Given the description of an element on the screen output the (x, y) to click on. 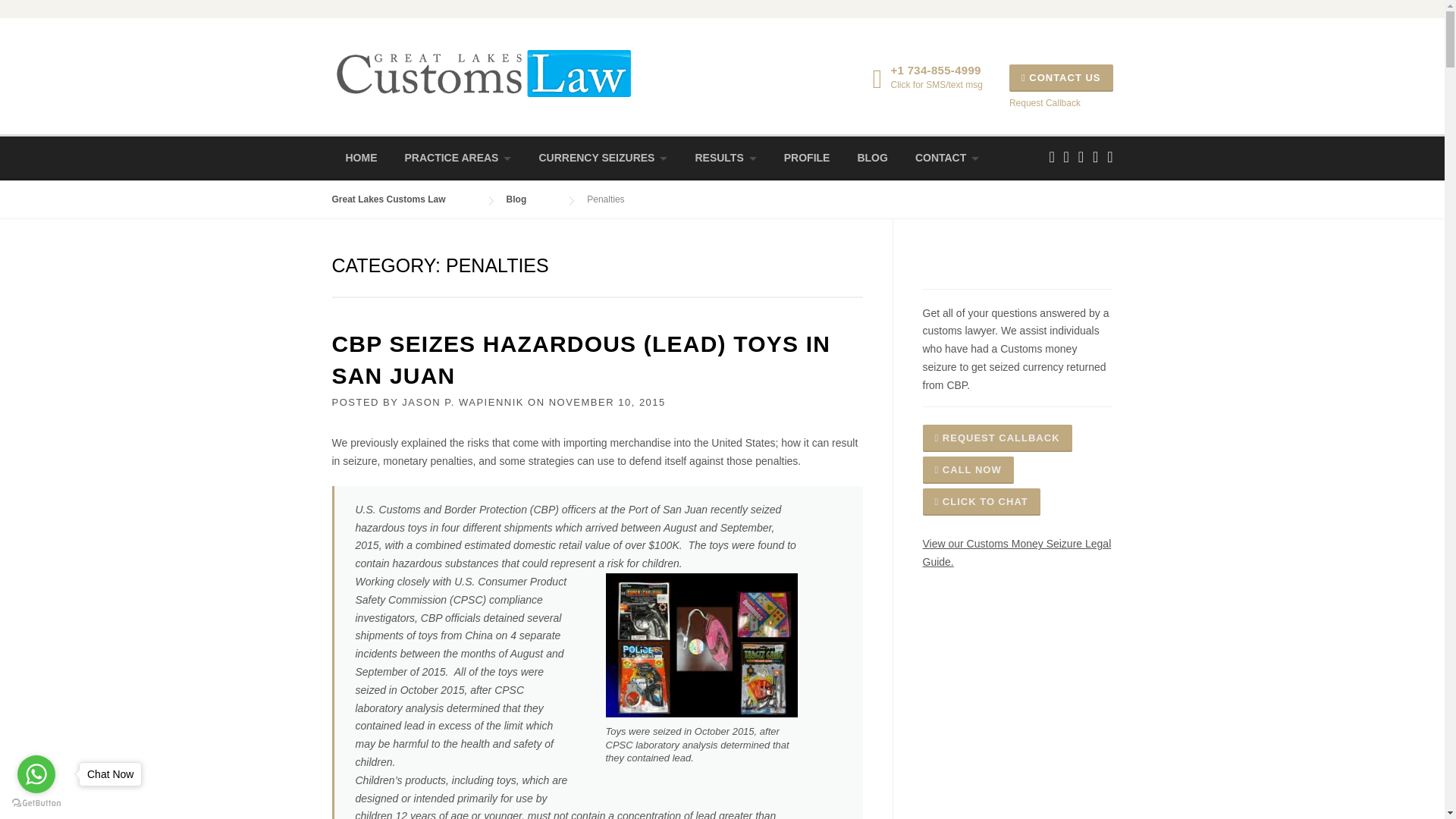
CONTACT US (1061, 77)
Go to Blog. (531, 199)
Toys that were seized, determined to contain lead. (701, 645)
Request Callback (1044, 102)
Great Lakes Customs Law (482, 71)
Go to Great Lakes Customs Law. (403, 199)
HOME (361, 158)
CURRENCY SEIZURES (602, 158)
PRACTICE AREAS (458, 158)
